Given the description of an element on the screen output the (x, y) to click on. 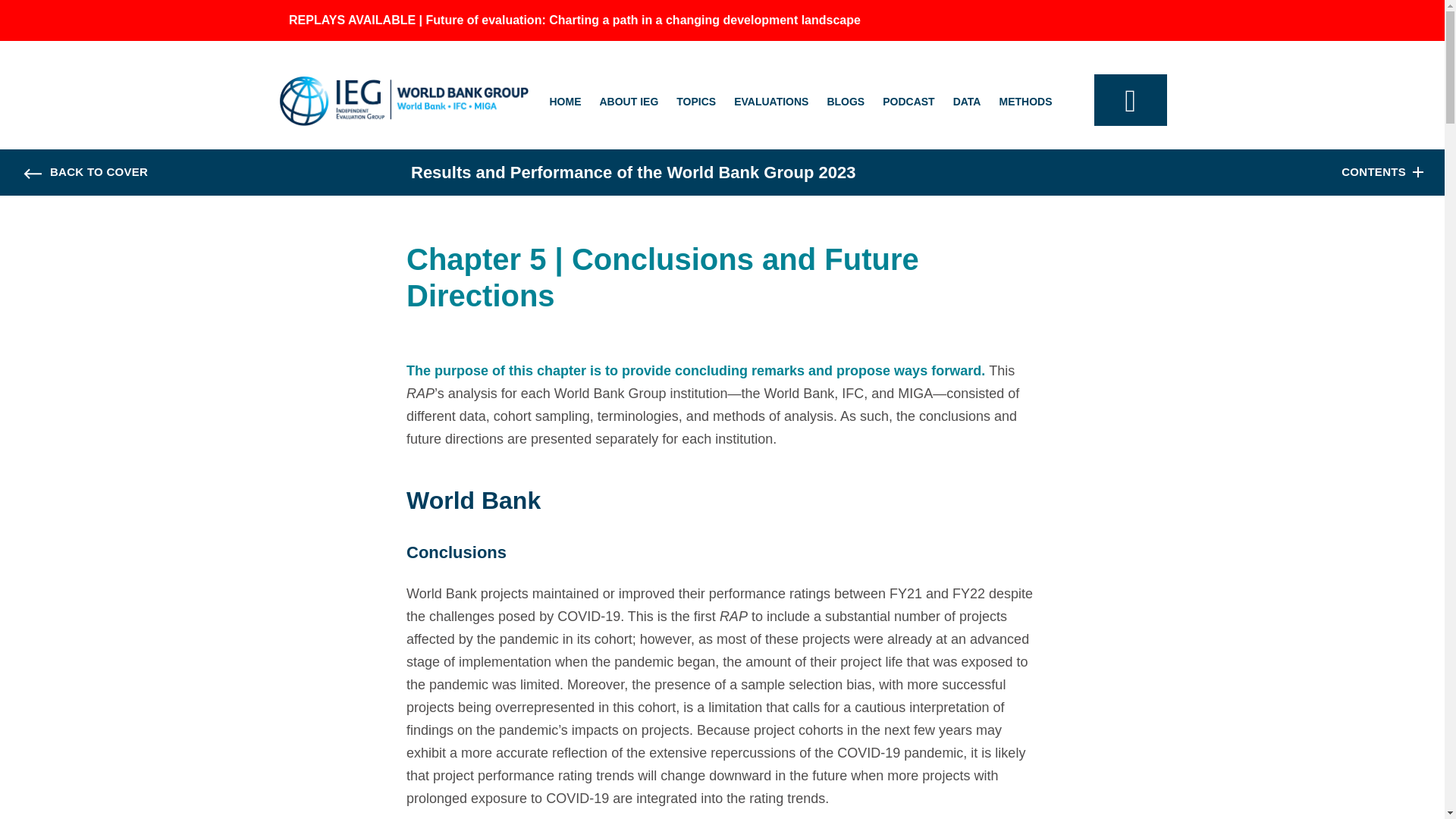
Skip to main content (58, 9)
BLOGS (845, 101)
DATA (967, 101)
HOME (564, 101)
ABOUT IEG (628, 101)
TOPICS (696, 101)
Home (403, 101)
PODCAST (908, 101)
EVALUATIONS (770, 101)
METHODS (1024, 101)
